Given the description of an element on the screen output the (x, y) to click on. 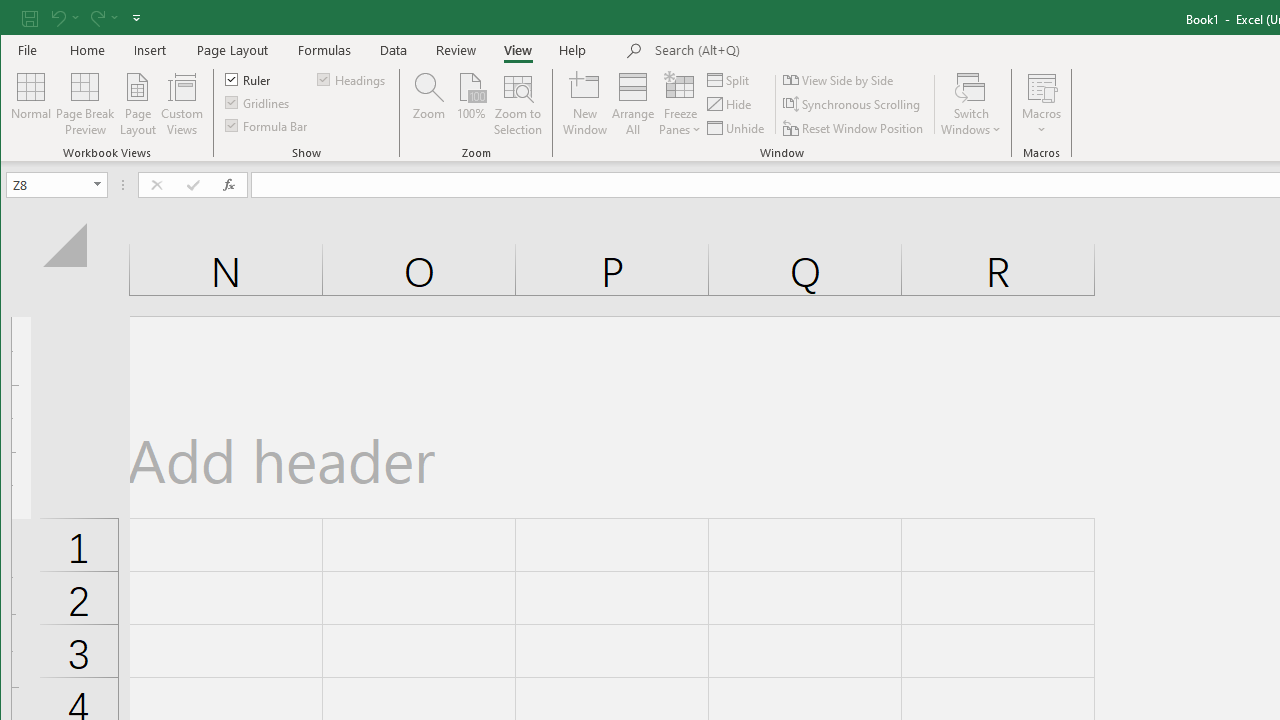
View Side by Side (839, 80)
Split (730, 80)
Gridlines (258, 101)
Ruler (248, 78)
Switch Windows (971, 104)
Macros (1041, 104)
Reset Window Position (854, 127)
